Given the description of an element on the screen output the (x, y) to click on. 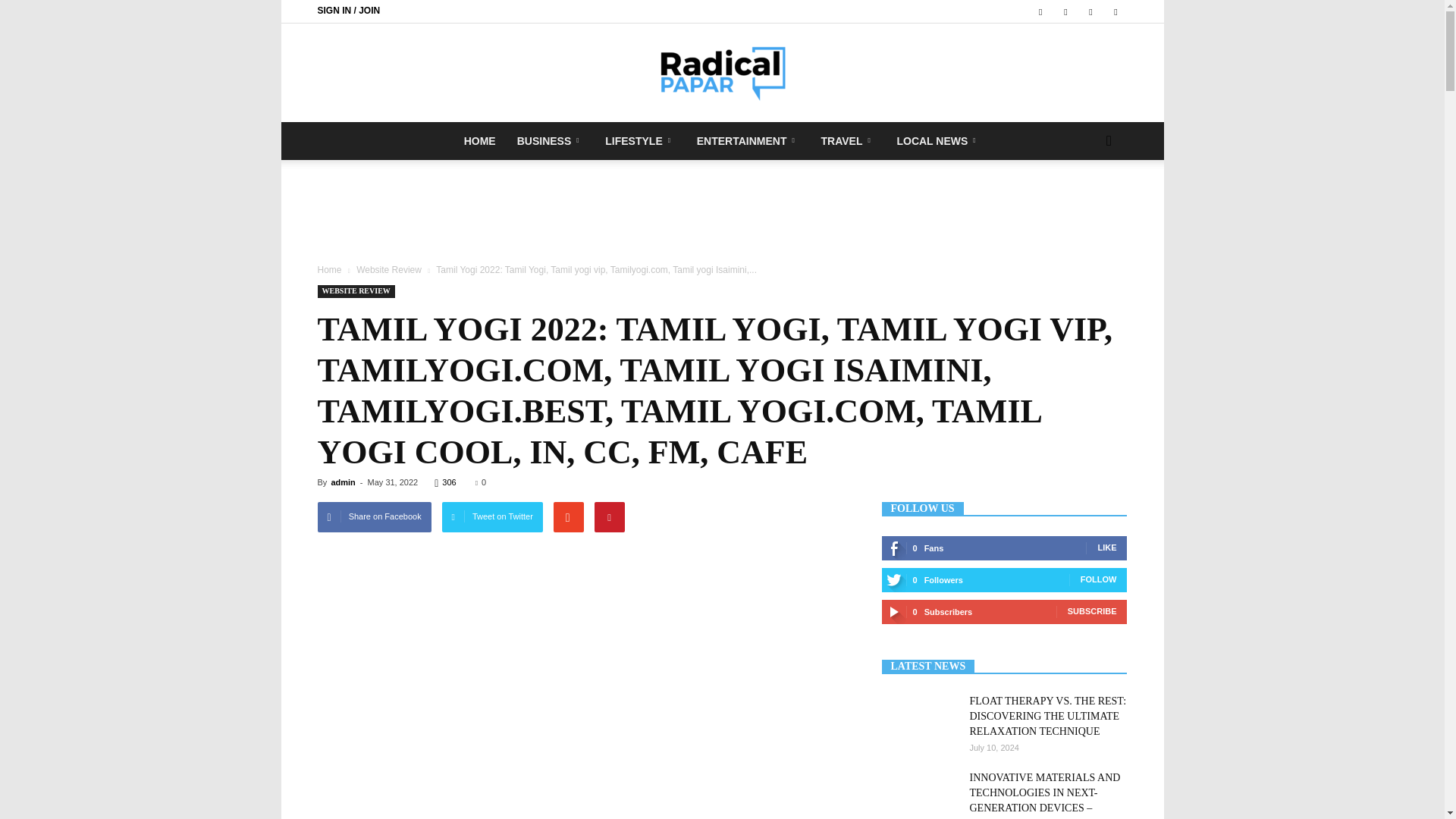
VKontakte (1090, 11)
Facebook (1040, 11)
BUSINESS (550, 140)
Radical Papar (722, 73)
Youtube (1114, 11)
HOME (479, 140)
Twitter (1065, 11)
